Given the description of an element on the screen output the (x, y) to click on. 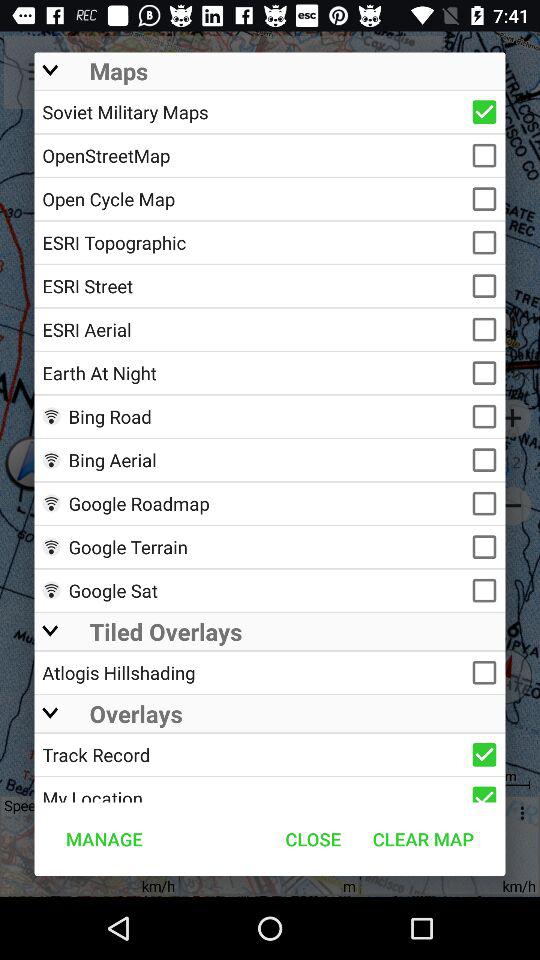
turn off the item to the left of clear map item (313, 838)
